Given the description of an element on the screen output the (x, y) to click on. 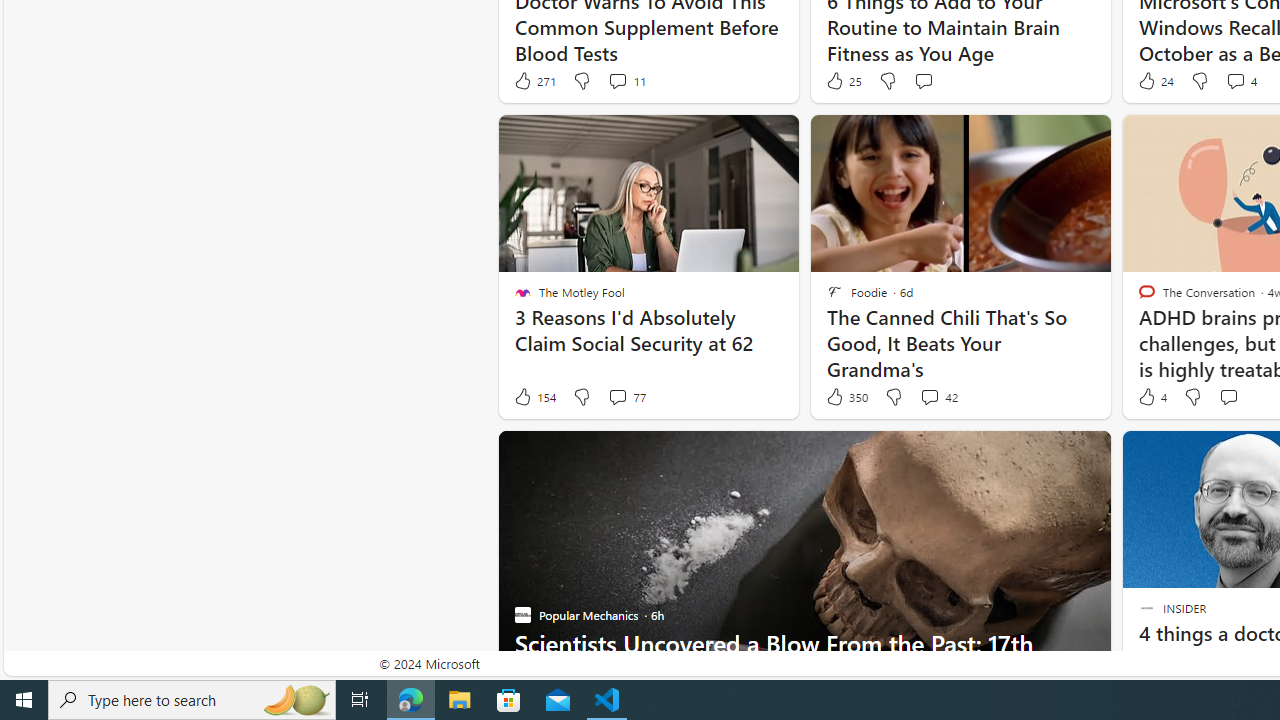
View comments 42 Comment (938, 397)
View comments 11 Comment (626, 80)
View comments 77 Comment (617, 396)
Hide this story (1169, 454)
271 Like (534, 80)
350 Like (845, 397)
View comments 11 Comment (617, 80)
154 Like (534, 397)
View comments 77 Comment (626, 397)
24 Like (1154, 80)
4 Like (1151, 397)
View comments 4 Comment (1240, 80)
